Given the description of an element on the screen output the (x, y) to click on. 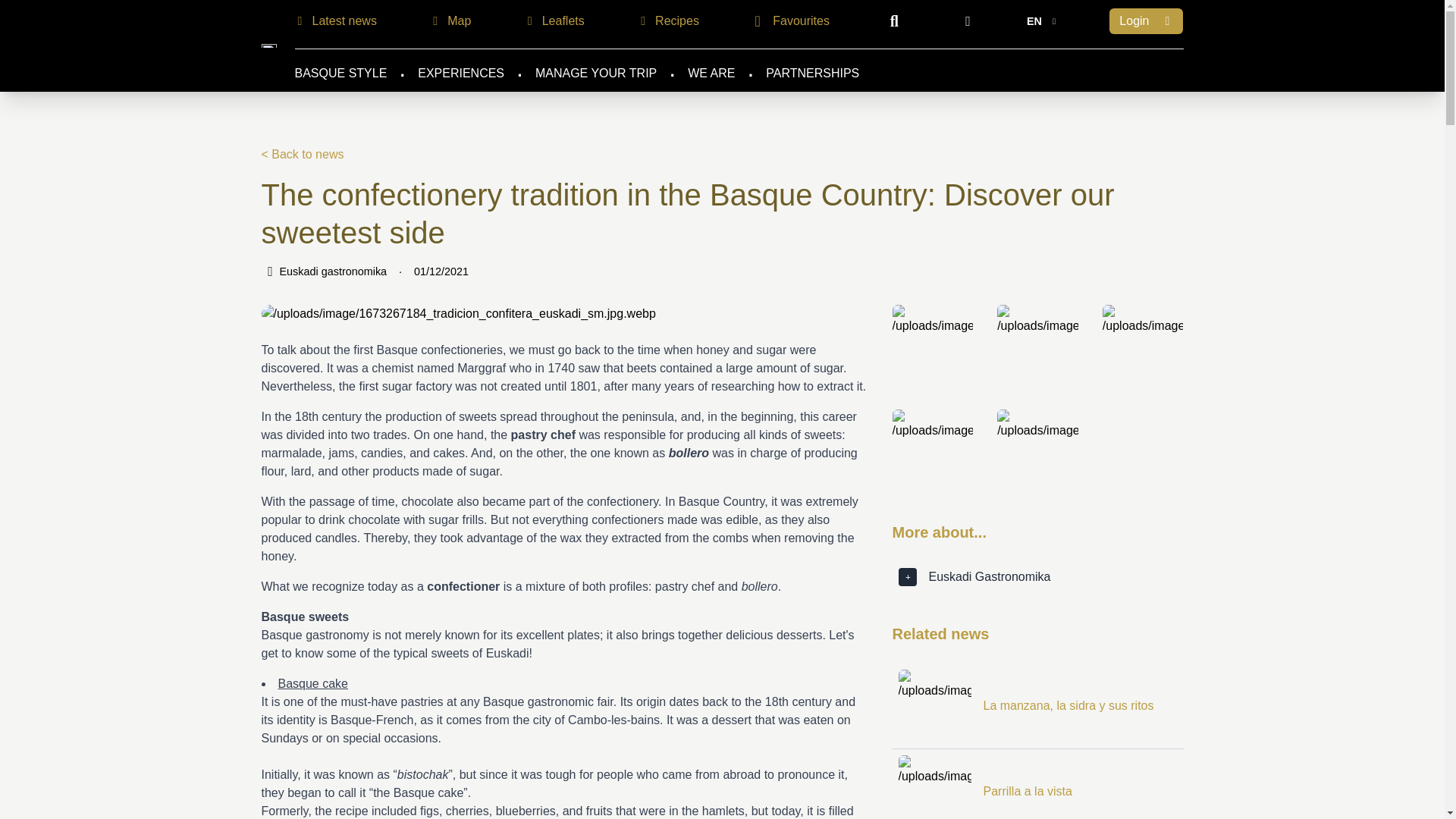
Euskadi Gastronomika (268, 45)
Recipes (665, 20)
Latest news (334, 21)
Favourites (788, 21)
Leaflets (553, 21)
Latest news (334, 20)
Leaflets (553, 20)
Map (448, 20)
Favourites (788, 20)
Map (448, 21)
